Given the description of an element on the screen output the (x, y) to click on. 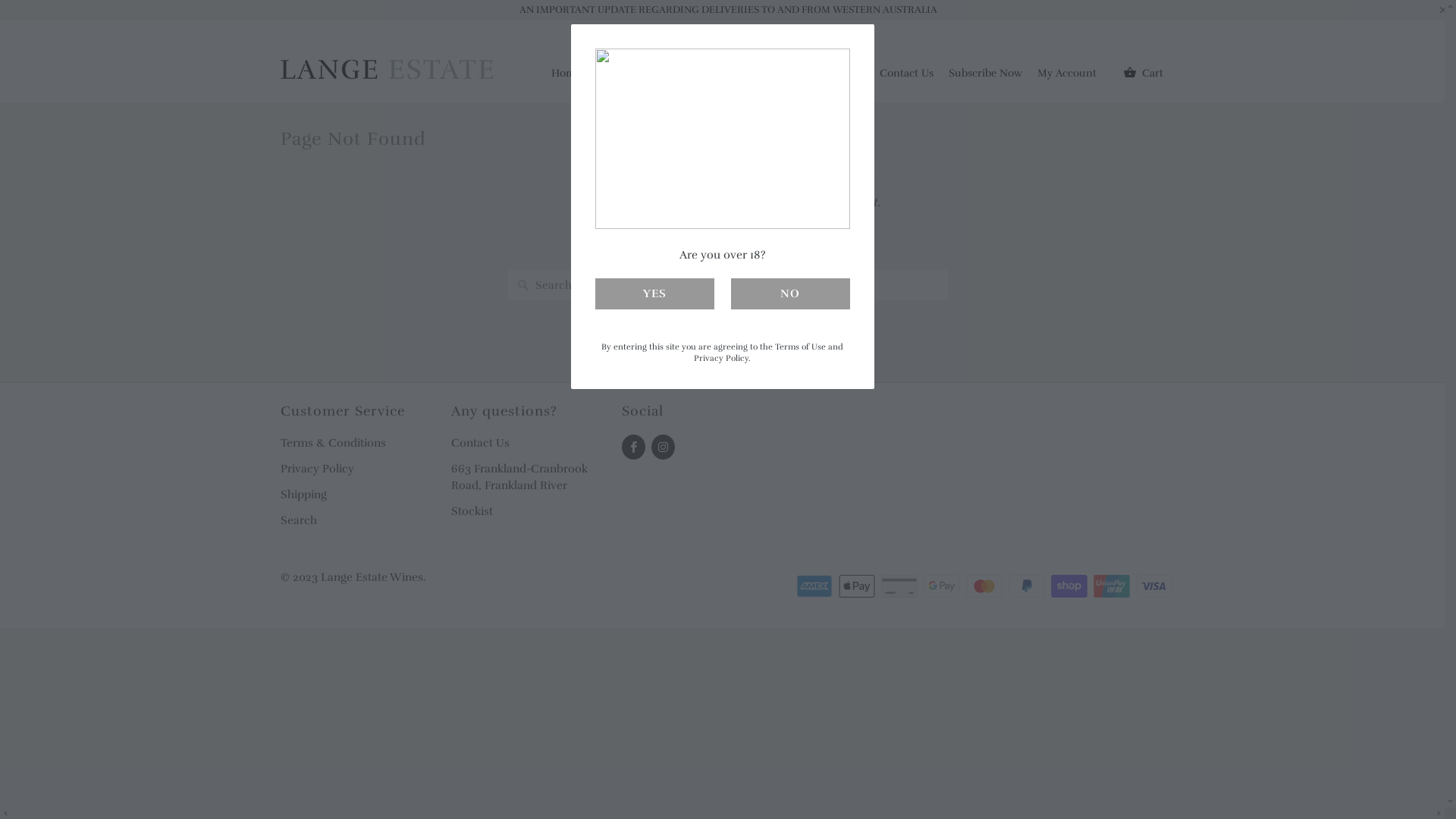
Yes Element type: text (653, 293)
Lange Estate Wines on Instagram Element type: hover (662, 446)
My Account Element type: text (1066, 77)
Privacy Policy Element type: text (317, 468)
Sign in Element type: text (1158, 39)
No Element type: text (790, 293)
663 Frankland-Cranbrook Road, Frankland River Element type: text (519, 476)
Contact Us Element type: text (480, 442)
continue shopping Element type: text (774, 246)
Lange Estate Wines on Facebook Element type: hover (633, 446)
Our Story Element type: text (628, 77)
Search Element type: text (298, 520)
Subscribe Now Element type: text (985, 77)
Contact Us Element type: text (906, 77)
Stockist Lange Estate Element type: text (813, 77)
Cart Element type: text (1143, 73)
Lange Estate Wines Element type: hover (386, 59)
Terms & Conditions Element type: text (332, 442)
Shipping Element type: text (303, 494)
Lange Estate Wines Element type: text (371, 576)
Wine Store Element type: text (711, 77)
Stockist Element type: text (471, 510)
Home Element type: text (565, 77)
